Given the description of an element on the screen output the (x, y) to click on. 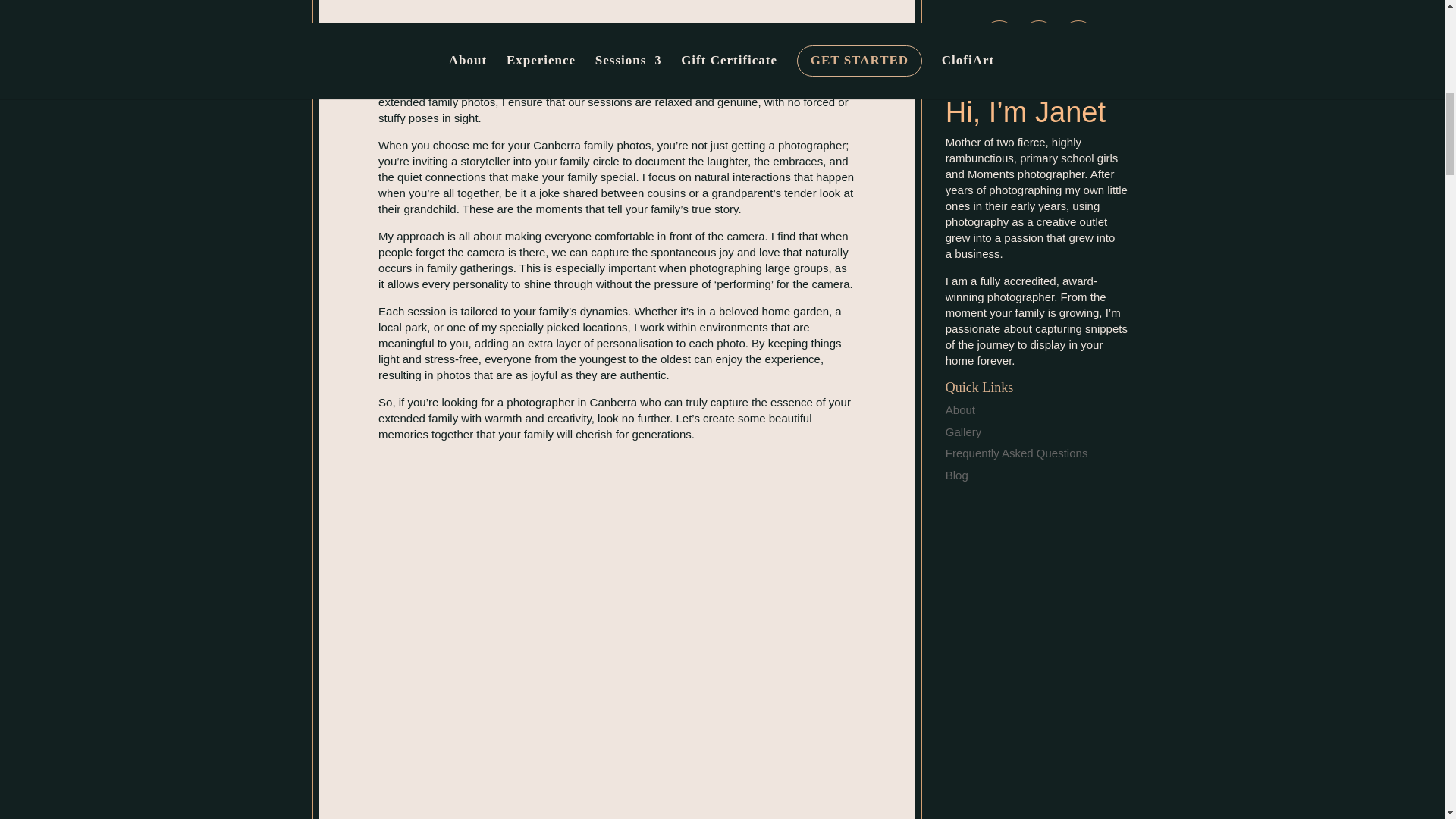
Follow on TikTok (1077, 37)
Follow on Instagram (1038, 37)
About (959, 409)
Frequently Asked Questions (1015, 452)
Gallery (962, 431)
Follow on Facebook (999, 37)
Blog (956, 474)
